Given the description of an element on the screen output the (x, y) to click on. 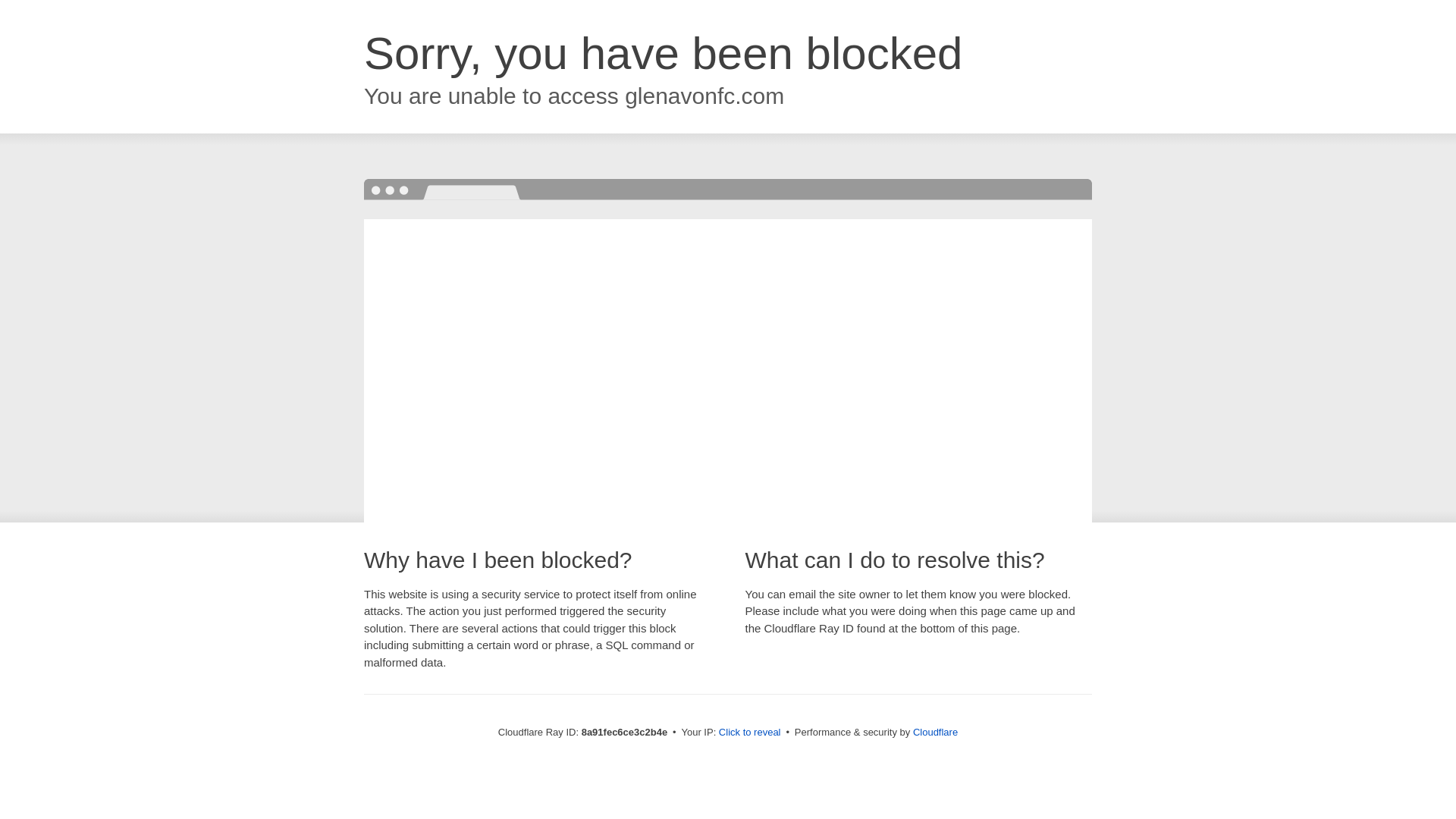
Click to reveal (749, 732)
Cloudflare (935, 731)
